Given the description of an element on the screen output the (x, y) to click on. 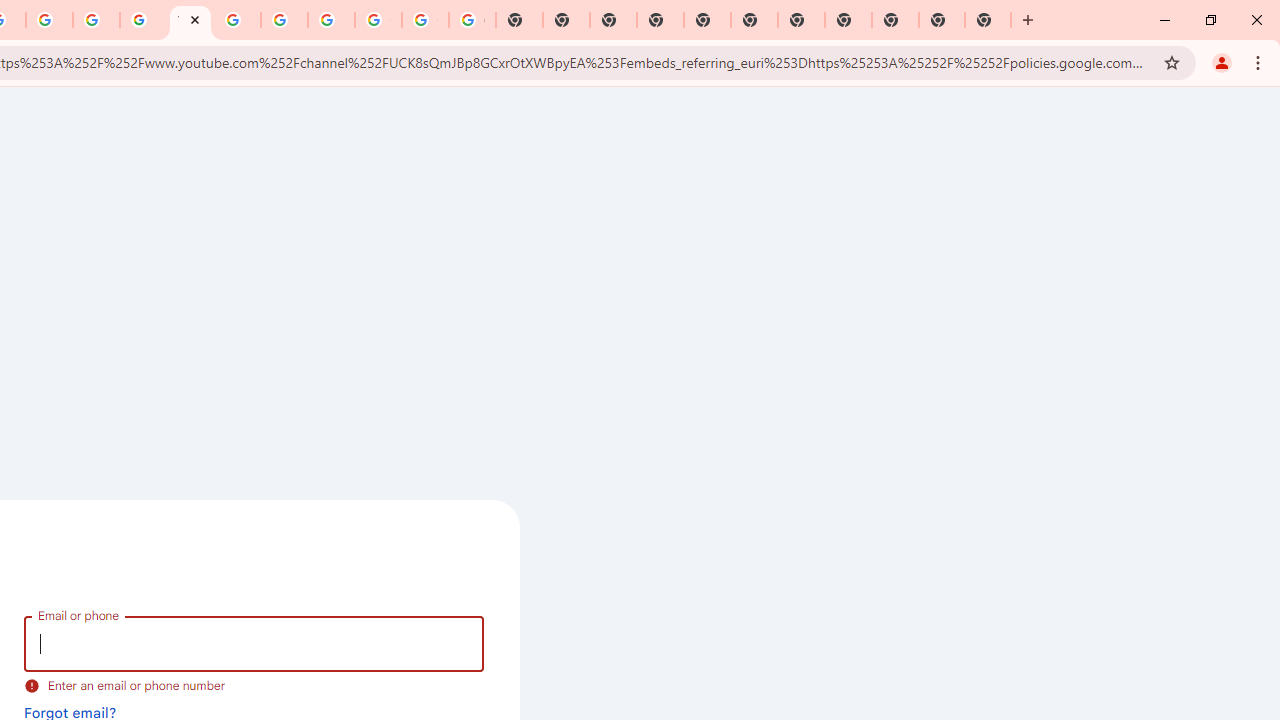
New Tab (660, 20)
Google Images (472, 20)
